Given the description of an element on the screen output the (x, y) to click on. 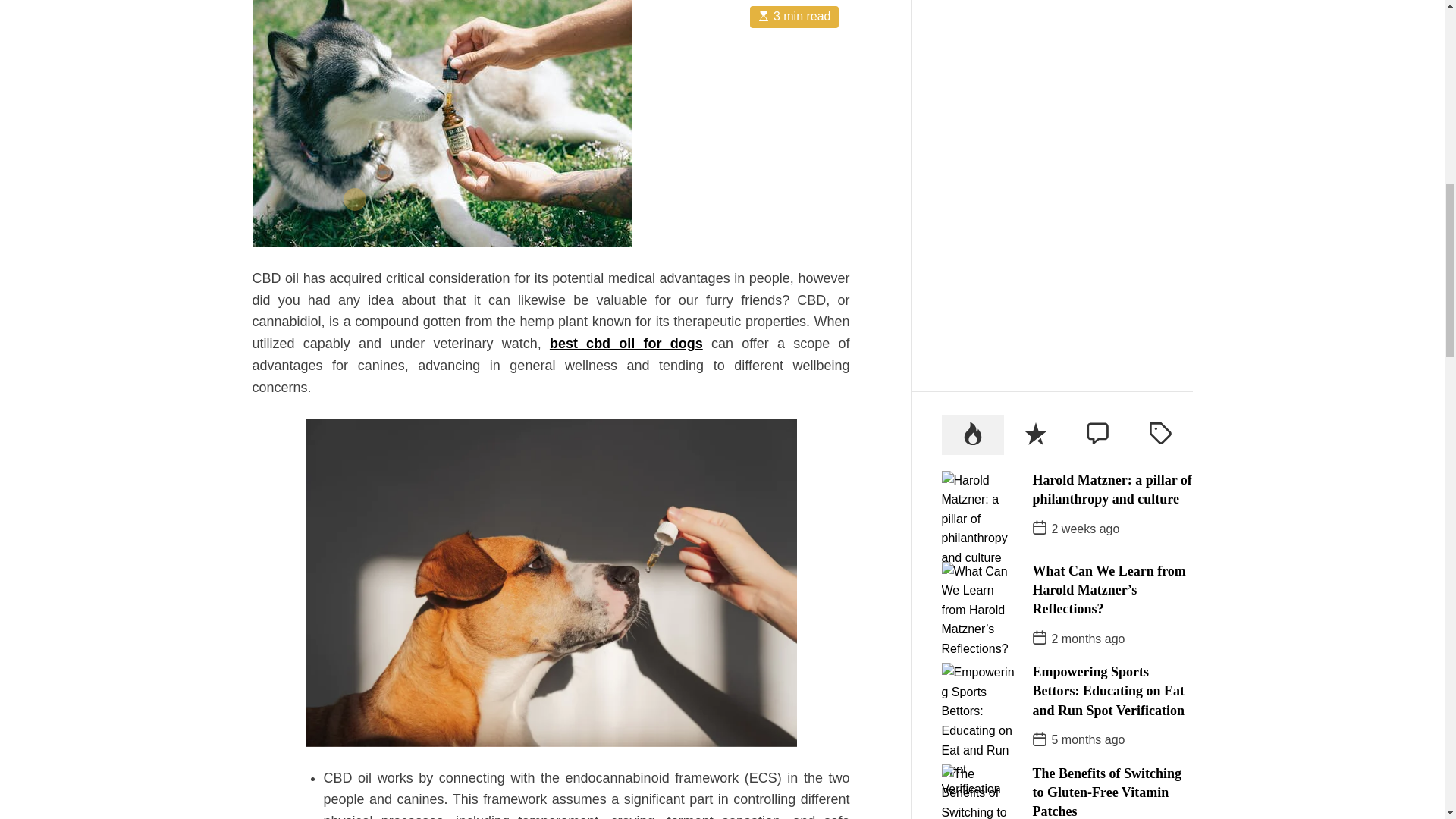
best cbd oil for dogs (626, 54)
